Given the description of an element on the screen output the (x, y) to click on. 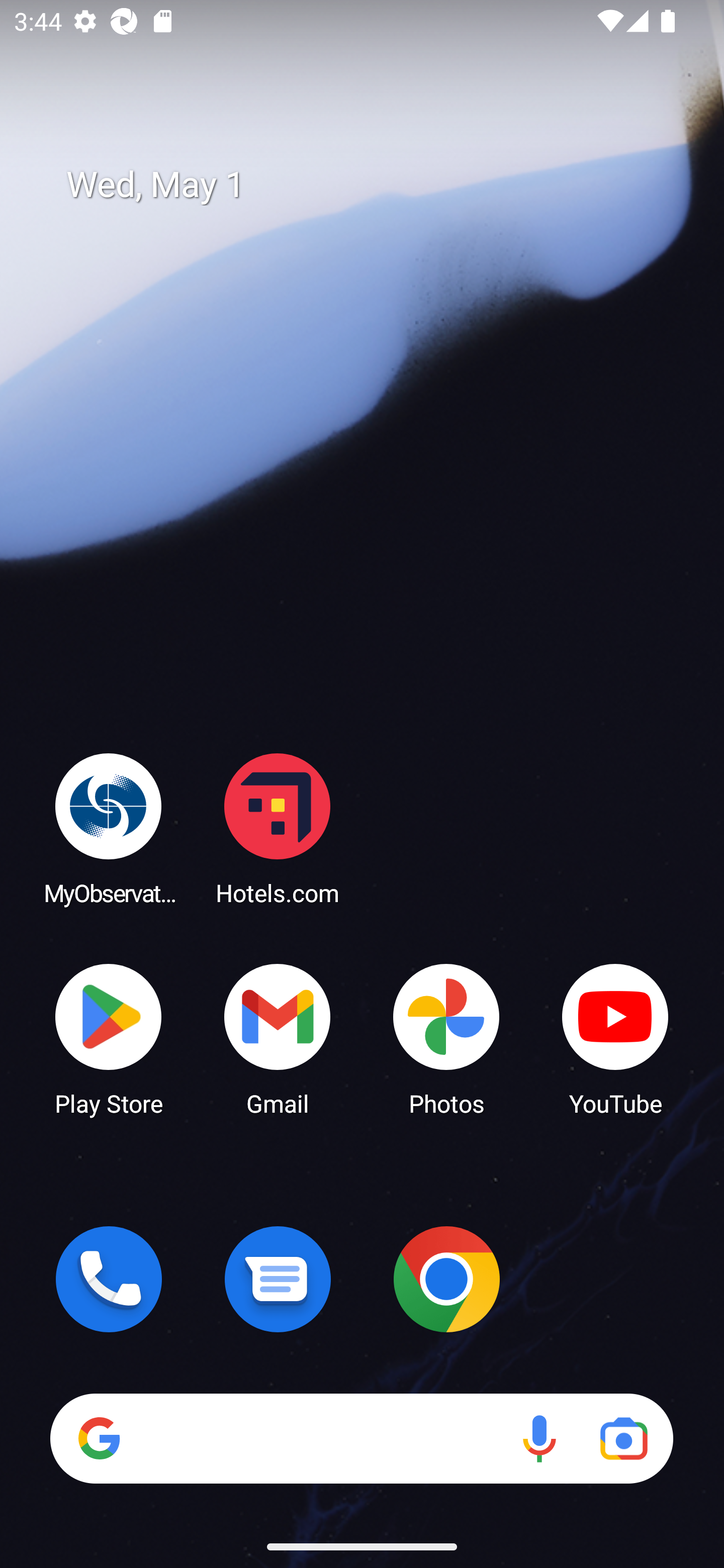
Wed, May 1 (375, 184)
MyObservatory (108, 828)
Hotels.com (277, 828)
Play Store (108, 1038)
Gmail (277, 1038)
Photos (445, 1038)
YouTube (615, 1038)
Phone (108, 1279)
Messages (277, 1279)
Chrome (446, 1279)
Search Voice search Google Lens (361, 1438)
Voice search (539, 1438)
Google Lens (623, 1438)
